Given the description of an element on the screen output the (x, y) to click on. 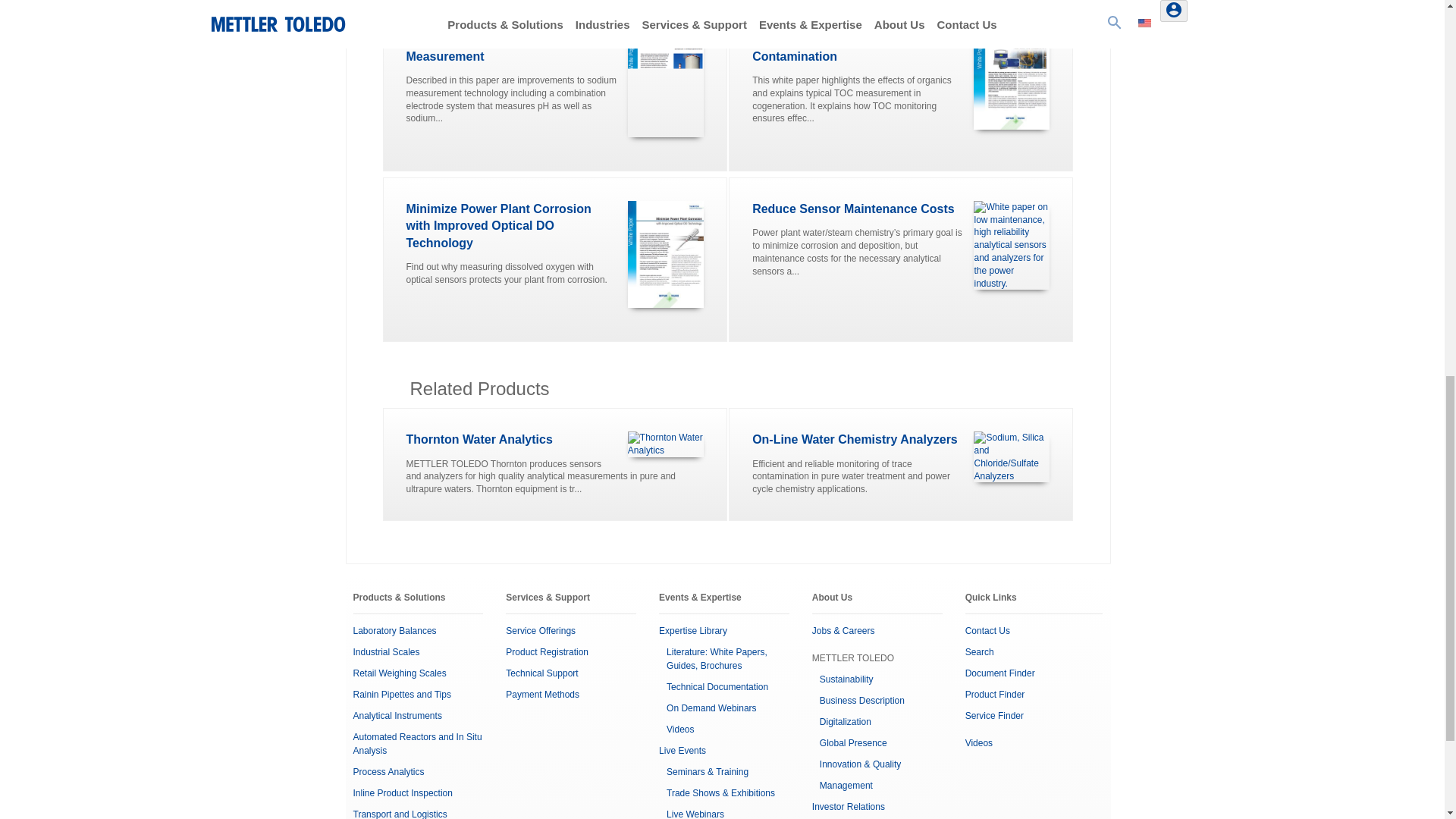
Advanced On-line Sodium Measurement (481, 47)
White Paper on Organic Contamination (820, 47)
On-Line Water Chemistry Analyzers (855, 439)
Automated Reactors and In Situ Analysis (417, 743)
Reduce Sensor Maintenance Costs (852, 208)
Process Analytics (389, 771)
Thornton Water Analytics (665, 444)
Retail Weighing Scales (399, 673)
Industrial Scales (386, 652)
Thornton Water Analytics (479, 439)
Rainin Pipettes and Tips (402, 694)
